Given the description of an element on the screen output the (x, y) to click on. 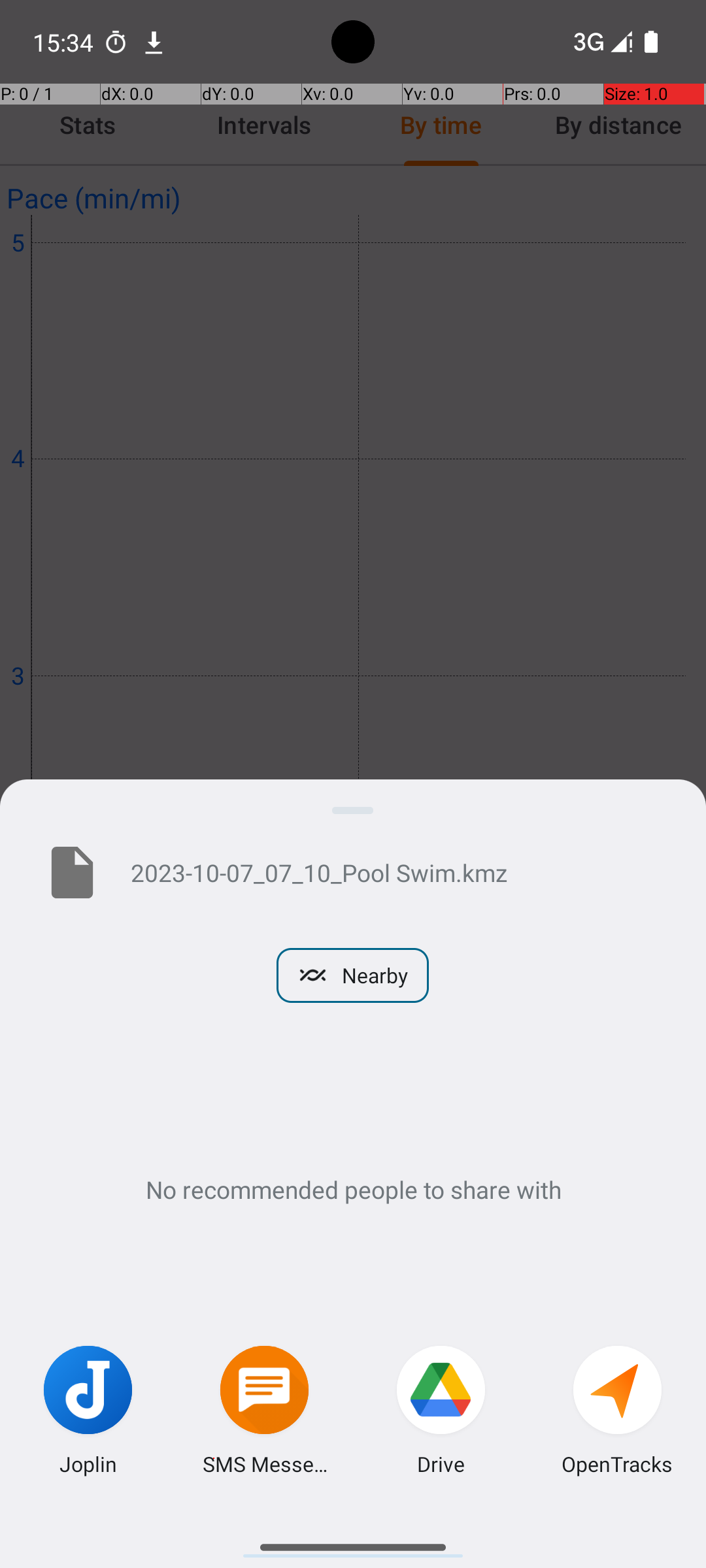
2023-10-07_07_10_Pool Swim.kmz Element type: android.widget.TextView (397, 872)
